Given the description of an element on the screen output the (x, y) to click on. 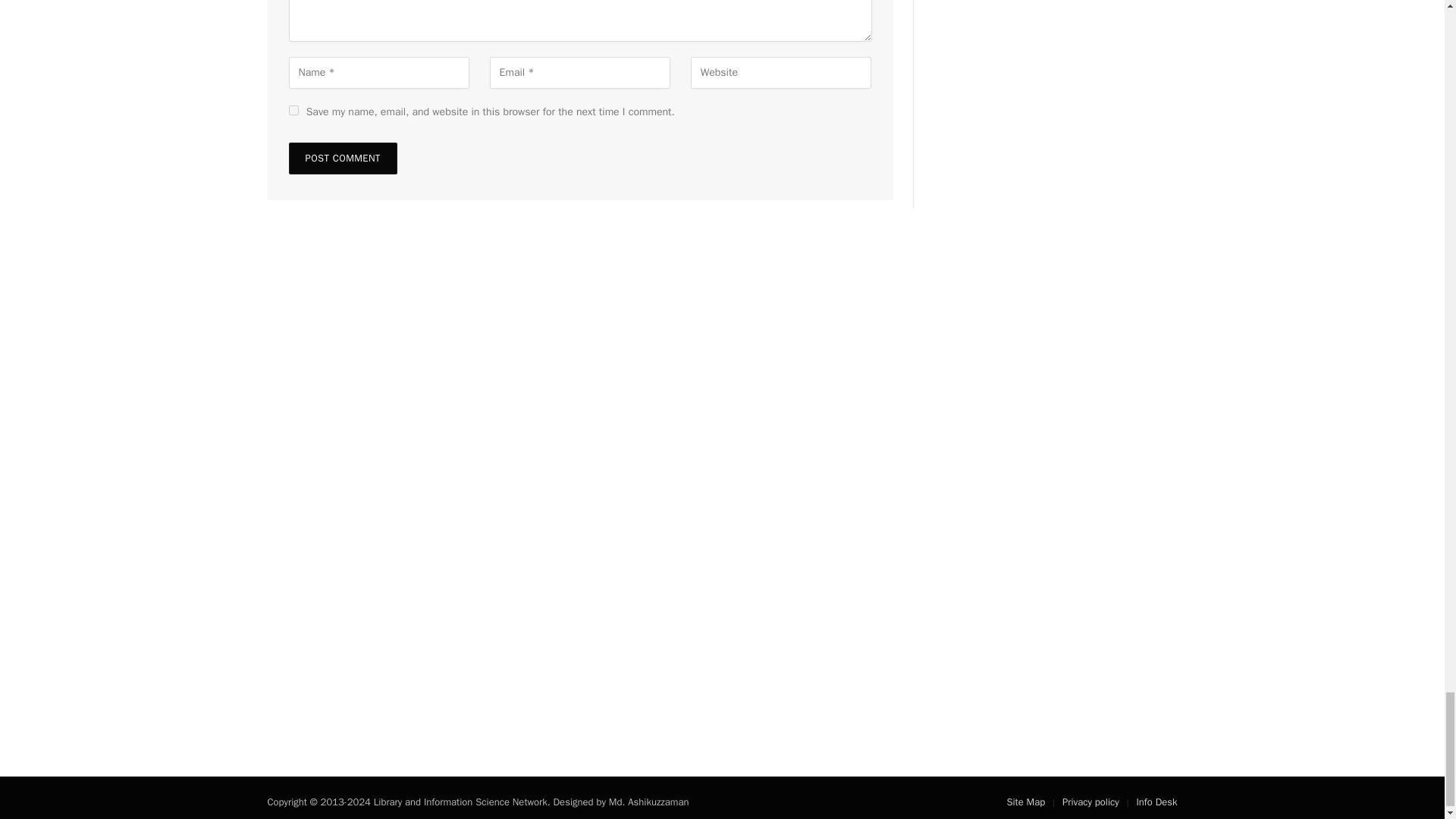
yes (293, 110)
Post Comment (342, 158)
